Given the description of an element on the screen output the (x, y) to click on. 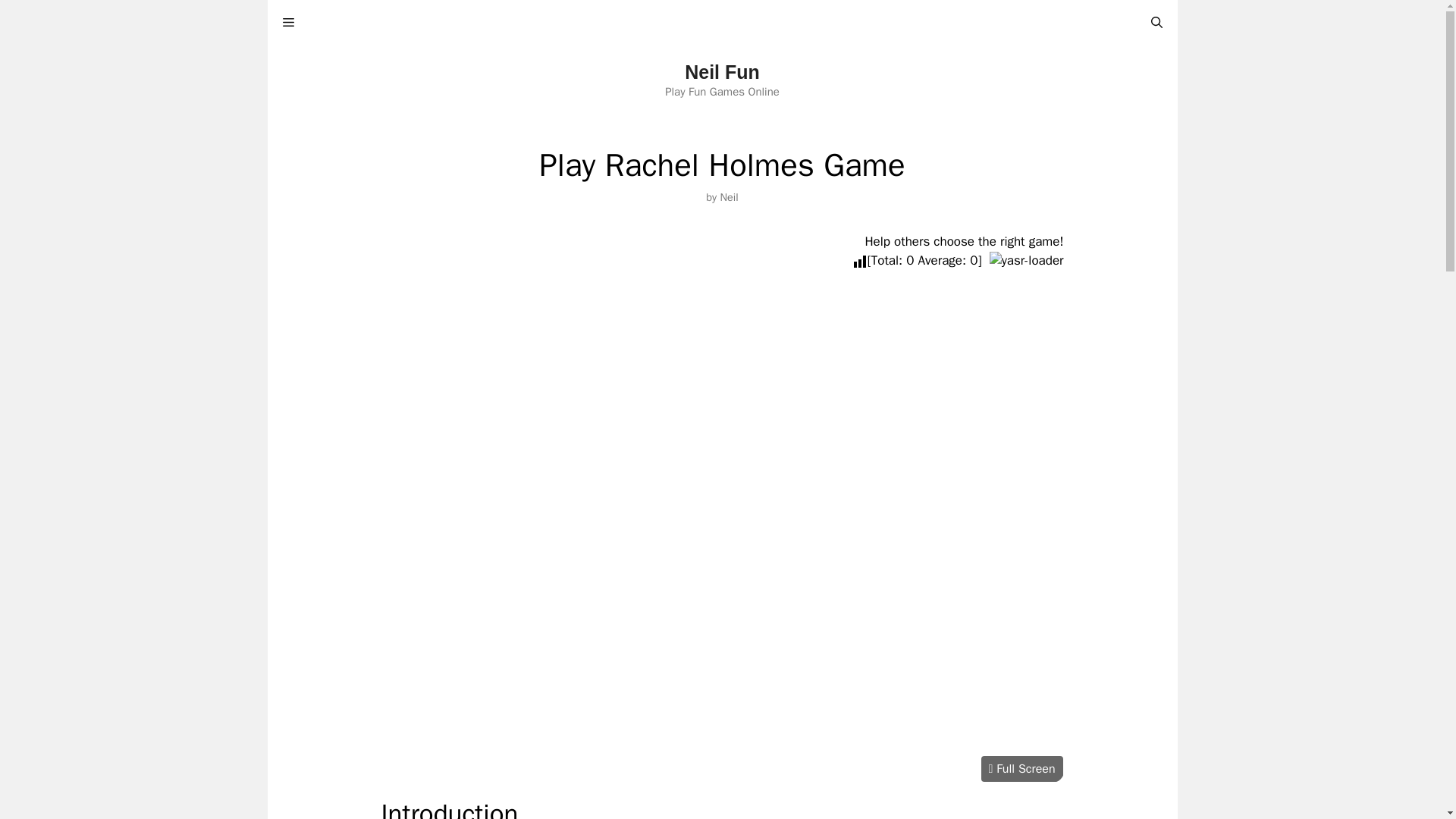
Neil (728, 196)
yasr-loader (1027, 260)
Neil Fun (722, 71)
View all posts by Neil (728, 196)
